Given the description of an element on the screen output the (x, y) to click on. 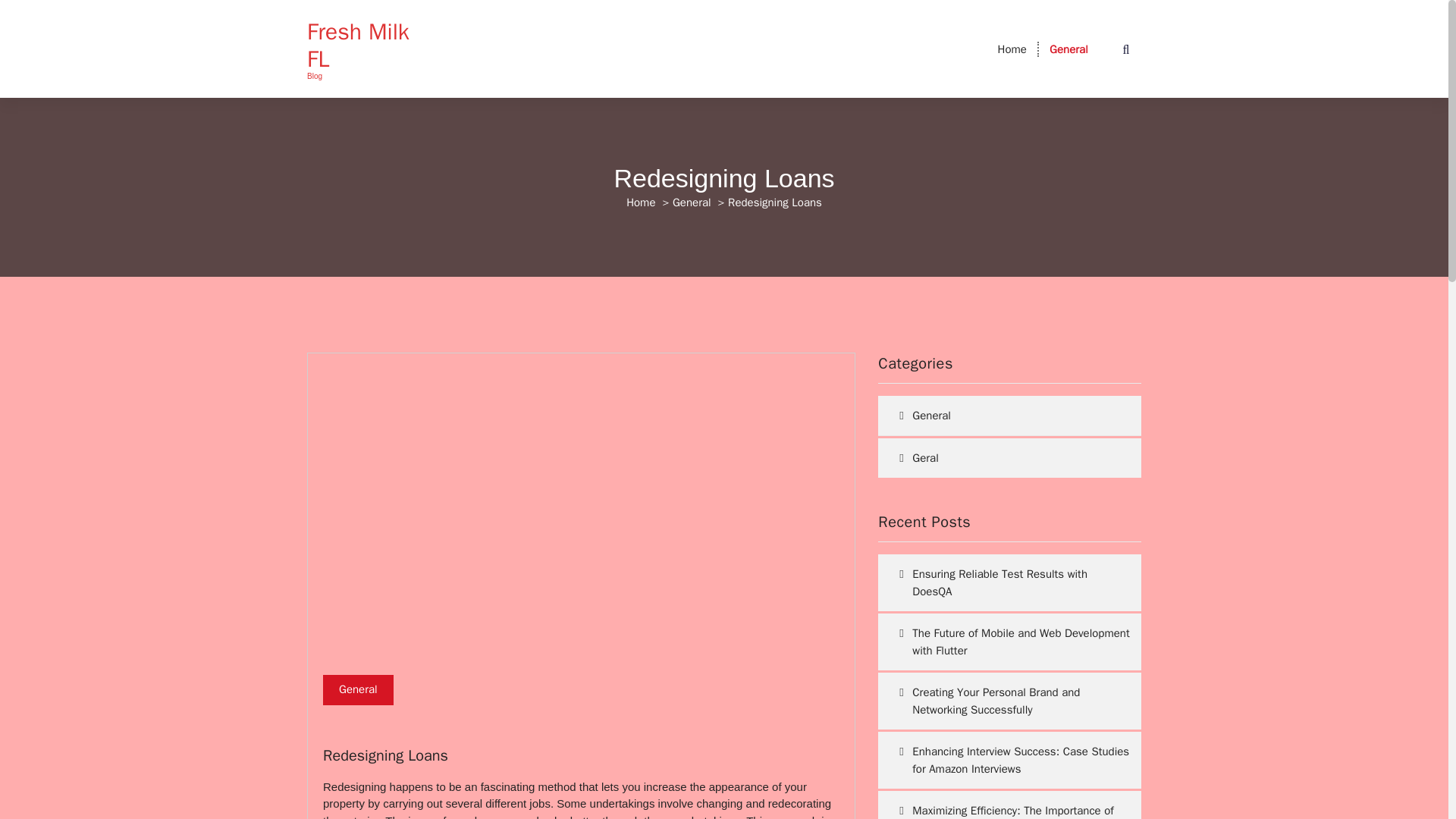
Geral (1003, 458)
General (1068, 49)
Creating Your Personal Brand and Networking Successfully (1009, 700)
Home (1012, 49)
General (1068, 49)
General (1003, 415)
General (691, 202)
General (358, 689)
The Future of Mobile and Web Development with Flutter (1009, 641)
